Given the description of an element on the screen output the (x, y) to click on. 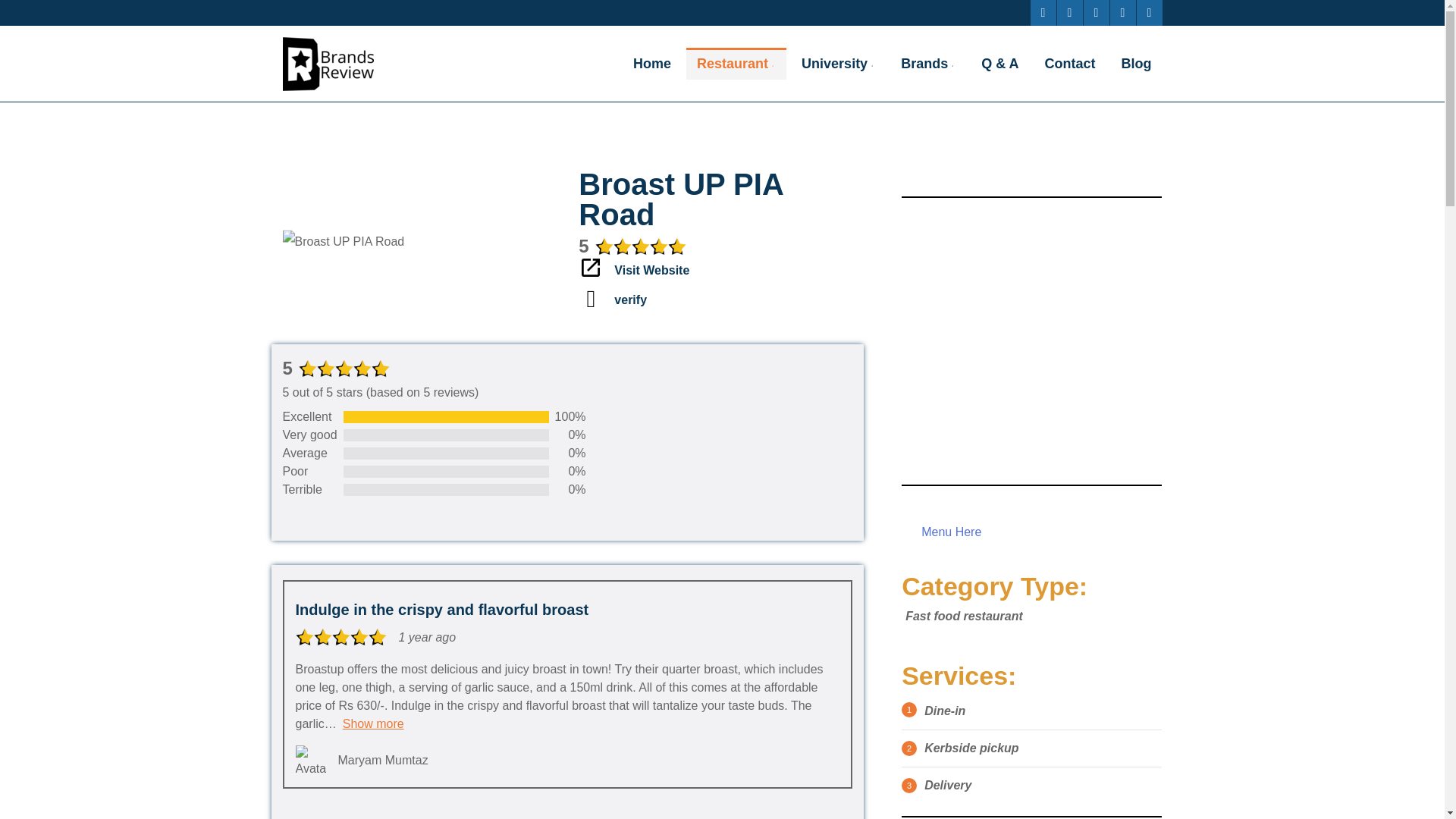
University (837, 63)
Restaurant (735, 63)
Pinterest (1095, 12)
Instagram (1148, 12)
Facebook (1042, 12)
Twitter (1070, 12)
YouTube (1122, 12)
YouTube (1122, 12)
Facebook (1042, 12)
Twitter (1070, 12)
Home (652, 63)
Instagram (1148, 12)
Pinterest (1095, 12)
